Given the description of an element on the screen output the (x, y) to click on. 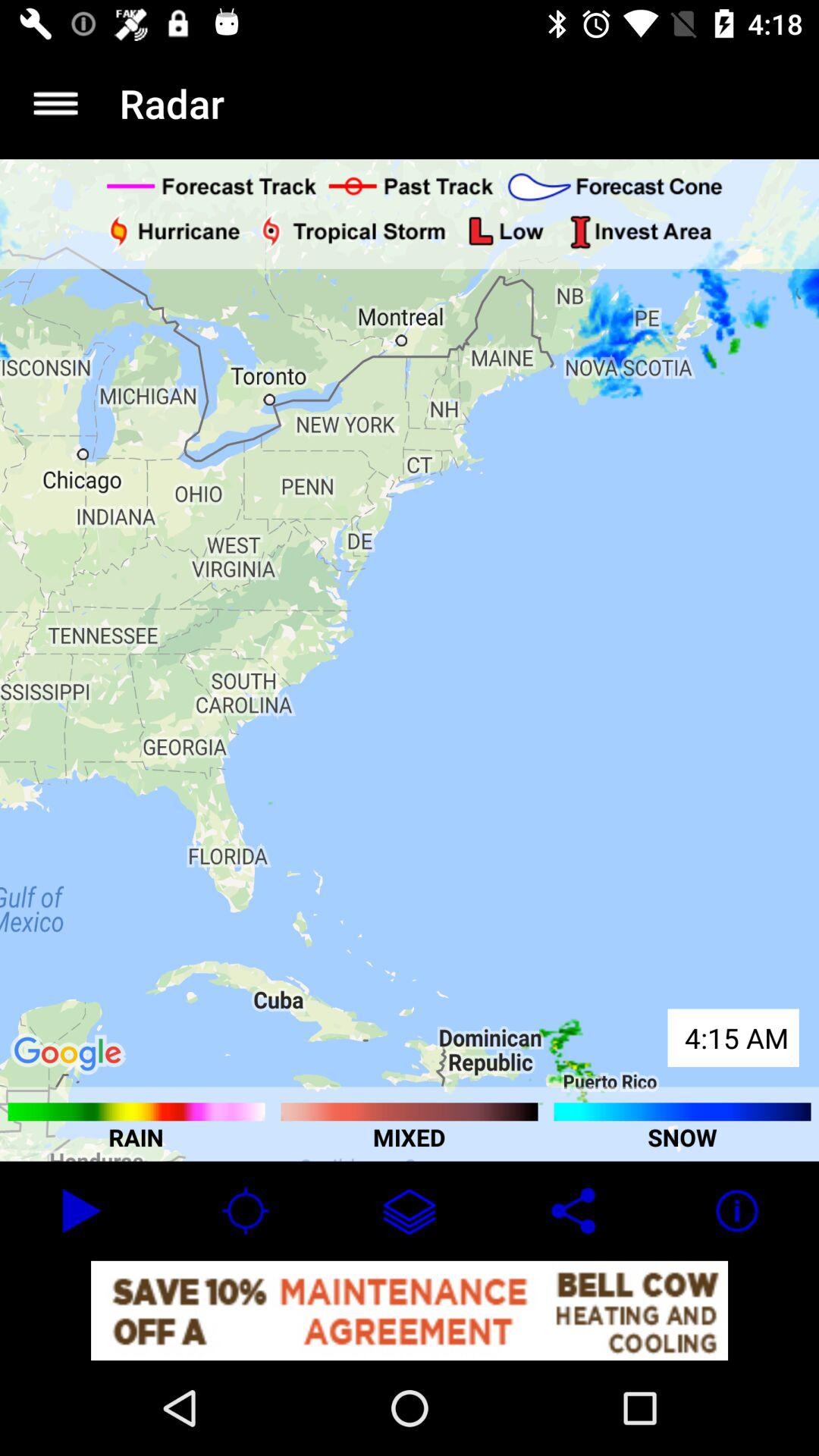
show menu (55, 103)
